Given the description of an element on the screen output the (x, y) to click on. 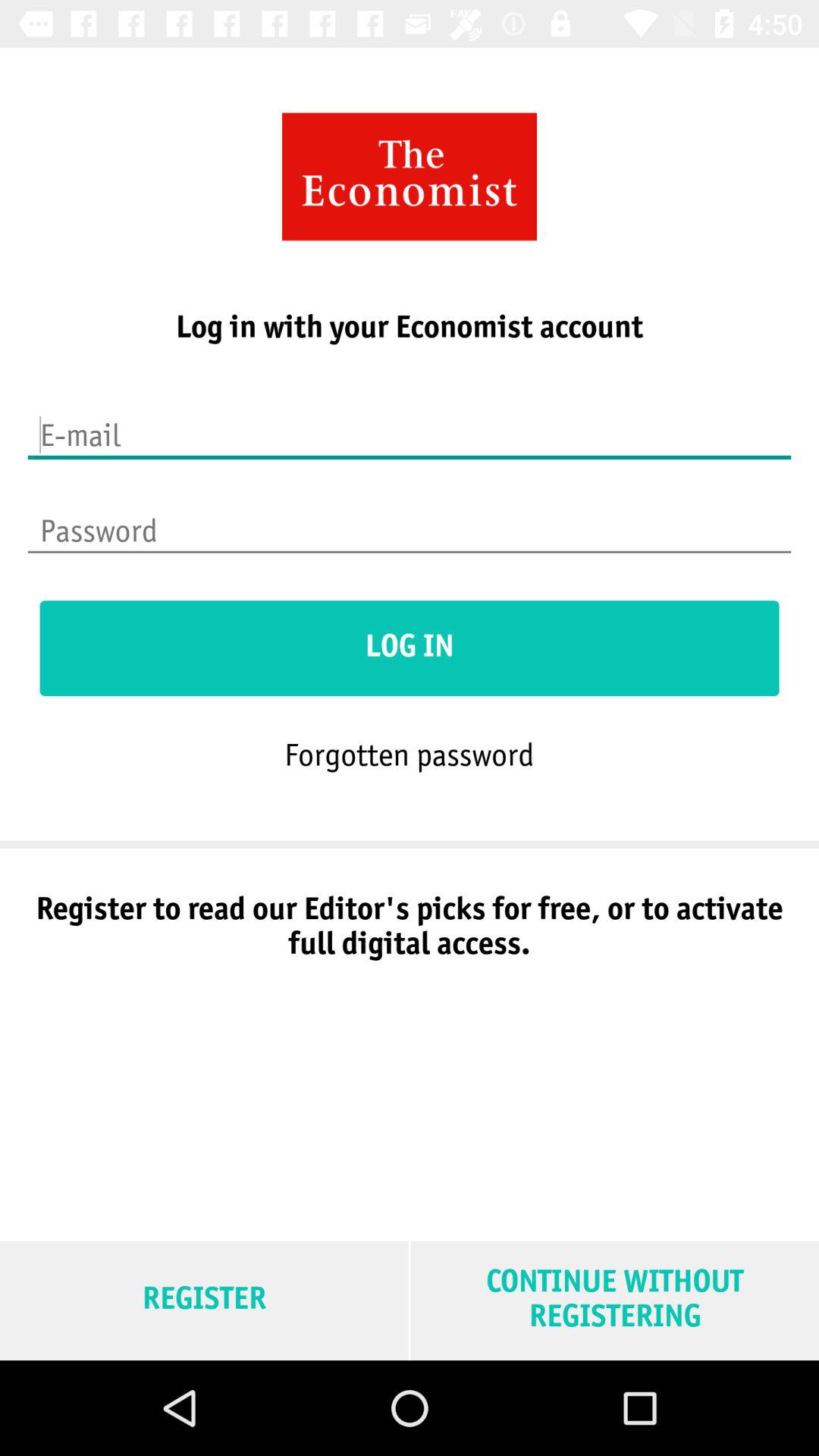
scroll until continue without registering (614, 1300)
